Given the description of an element on the screen output the (x, y) to click on. 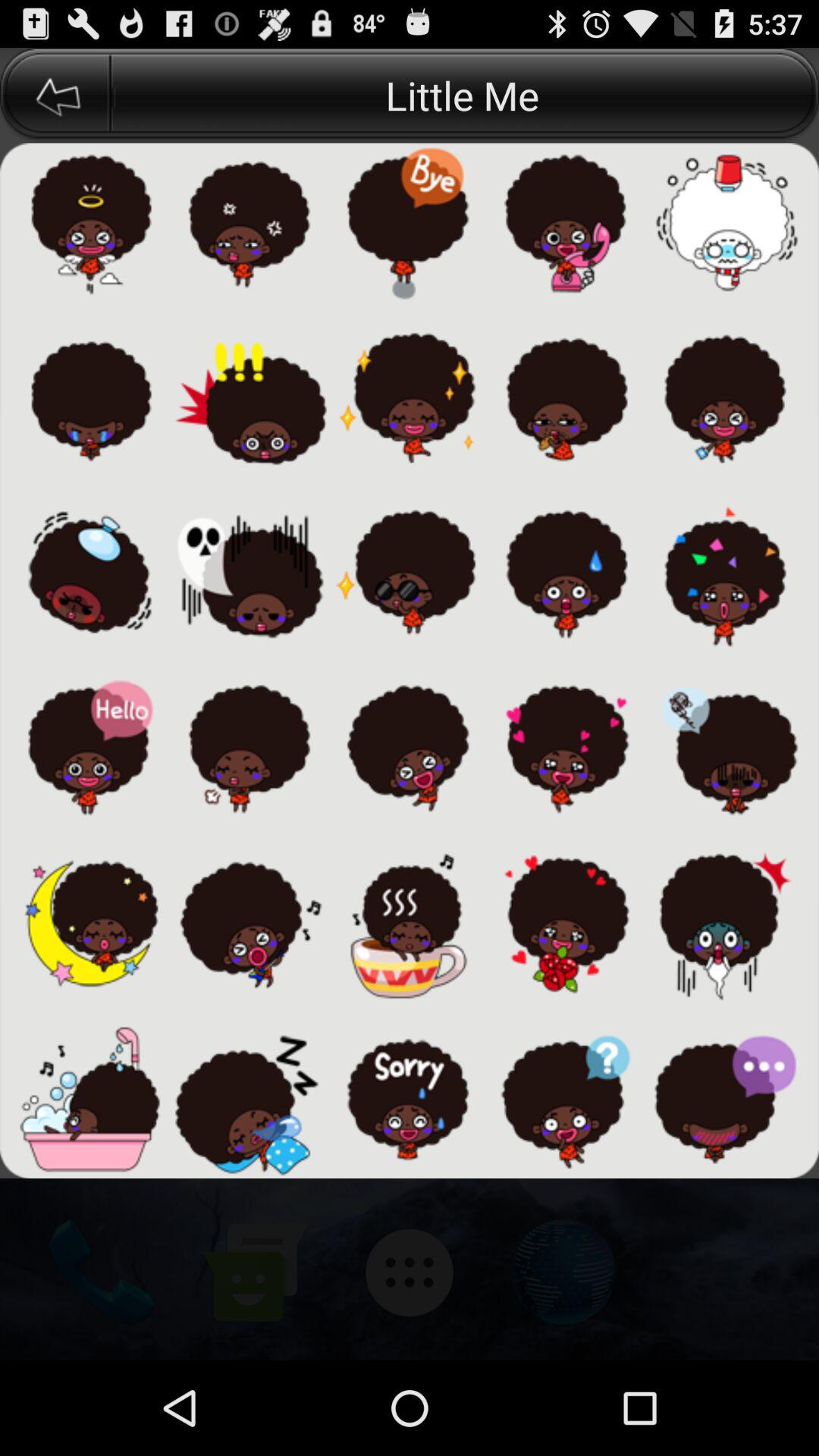
turn off the little me button (465, 95)
